Given the description of an element on the screen output the (x, y) to click on. 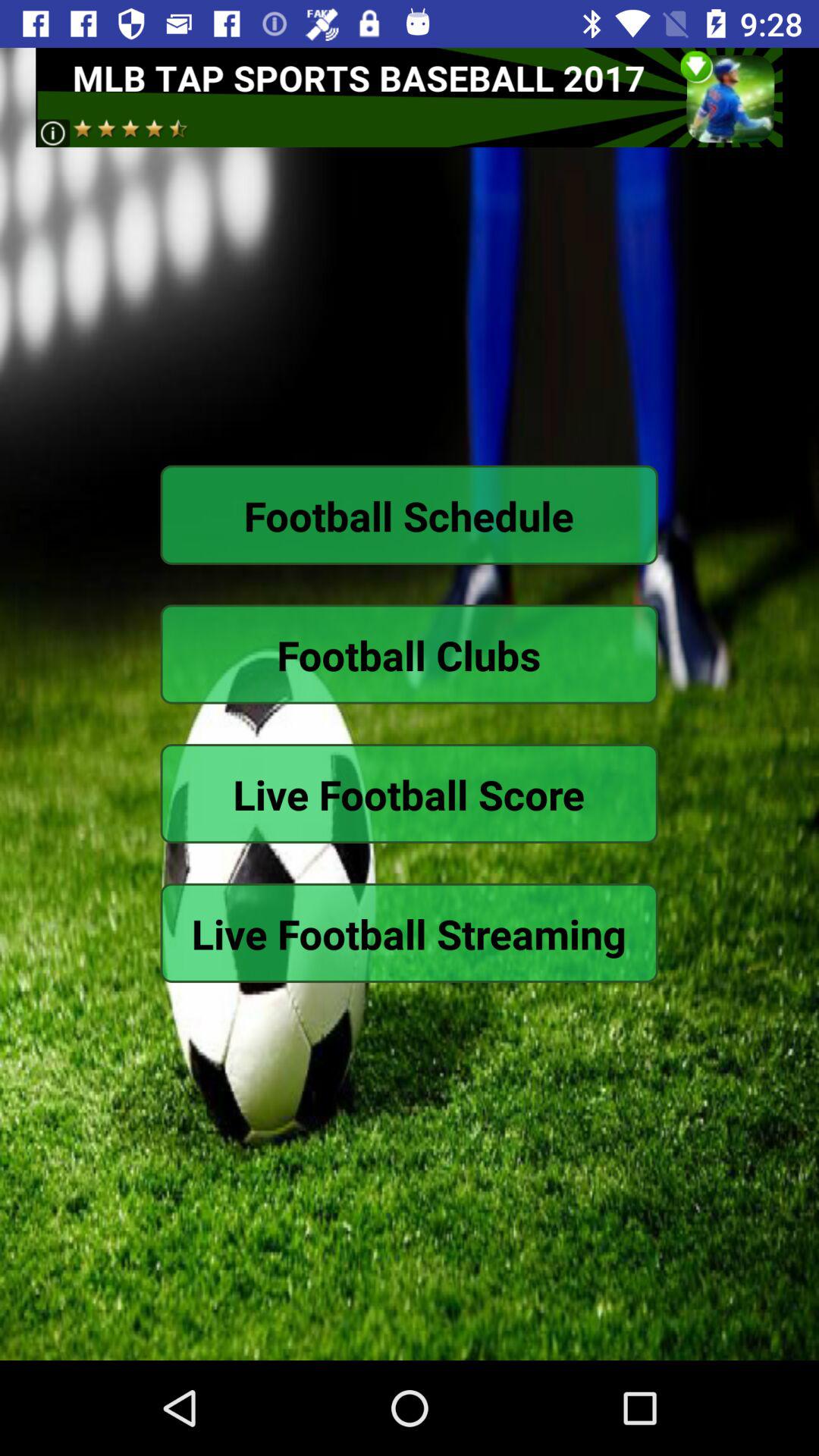
advertisement (408, 97)
